Given the description of an element on the screen output the (x, y) to click on. 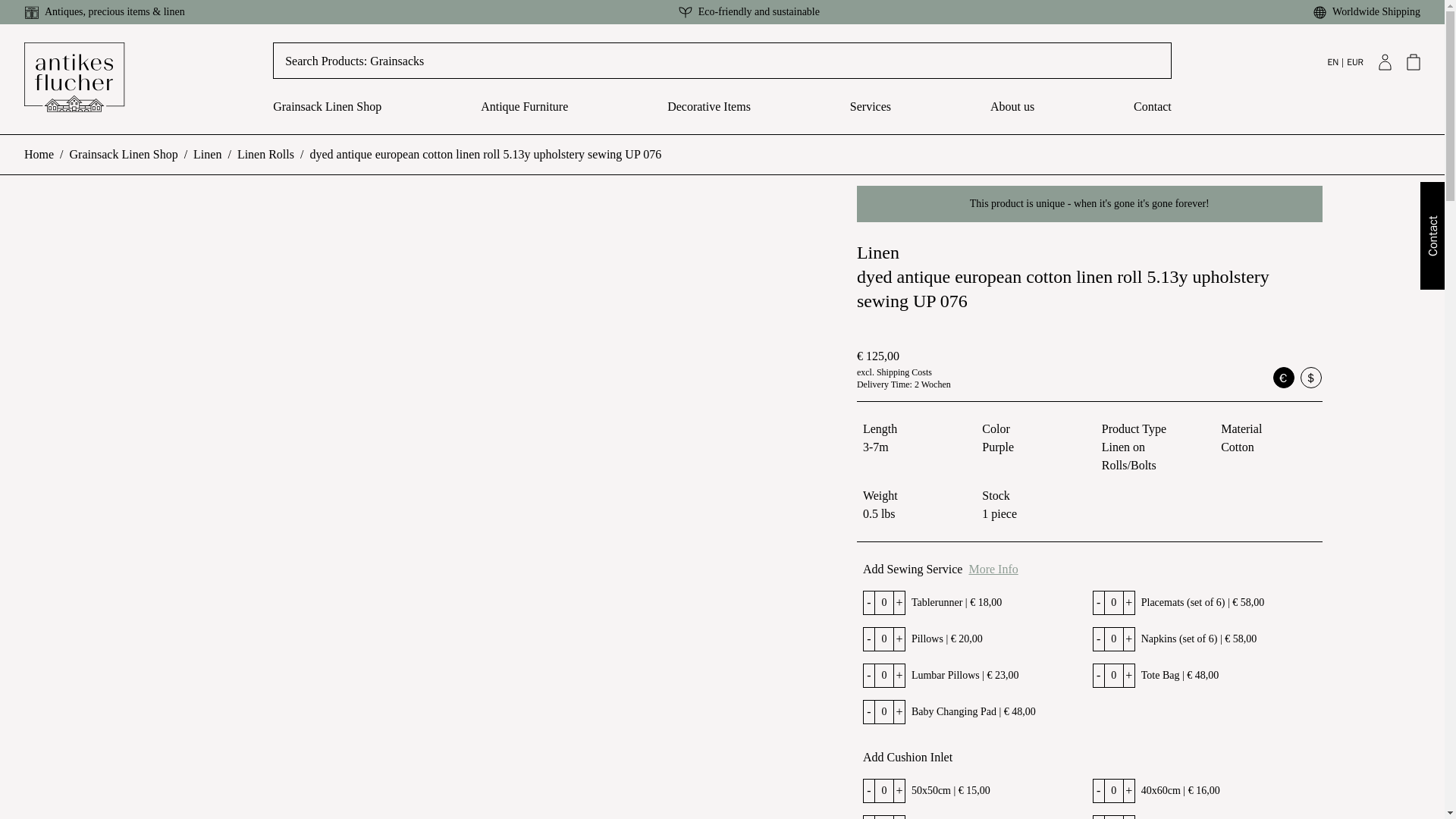
Antique Furniture (523, 115)
EUR (1354, 61)
About us (1011, 115)
Grainsack Linen Shop (327, 115)
Contact (1153, 115)
Decorative Items (708, 115)
Services (870, 115)
EN (1332, 61)
